Given the description of an element on the screen output the (x, y) to click on. 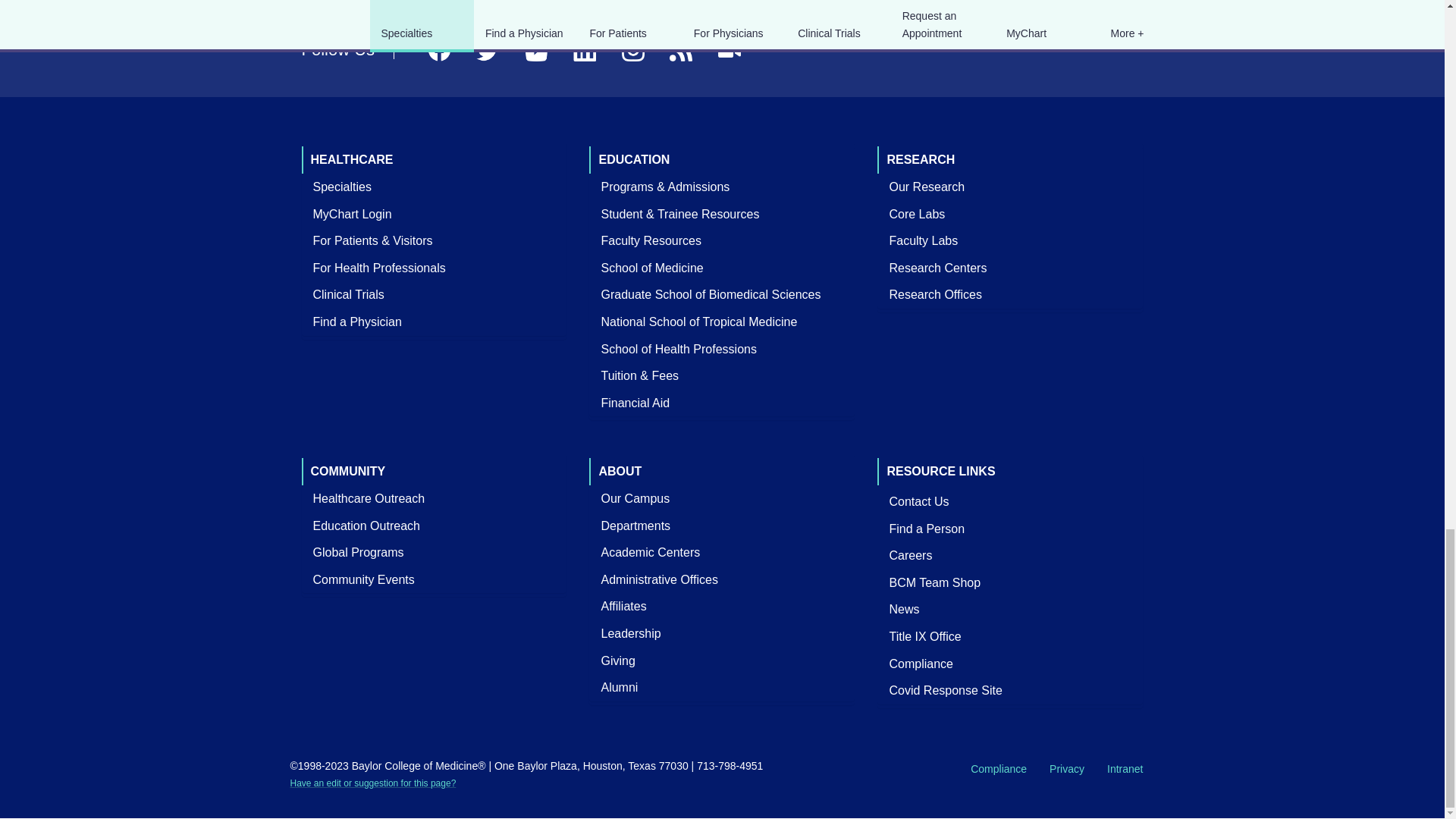
Compliance (920, 663)
Web Request (372, 783)
Covid Response Site (945, 689)
Title IX and Gender Discrimination (924, 636)
